Given the description of an element on the screen output the (x, y) to click on. 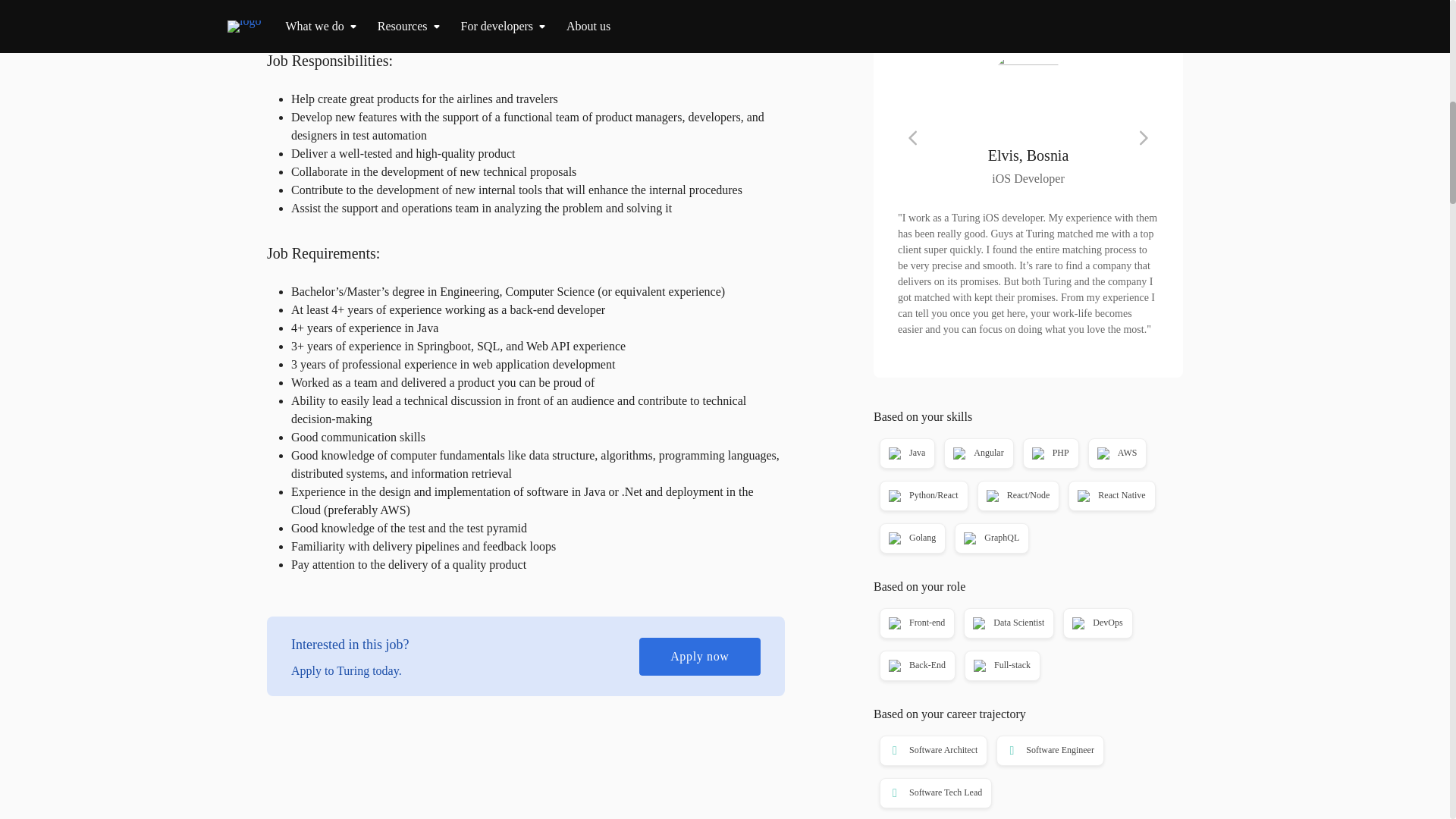
Apply now (1027, 4)
Front-end (915, 622)
Angular (976, 453)
GraphQL (990, 537)
React Native (1109, 495)
DevOps (1096, 622)
Back-End (915, 665)
Software Architect (931, 750)
Full-stack (1000, 665)
Java (905, 453)
